Given the description of an element on the screen output the (x, y) to click on. 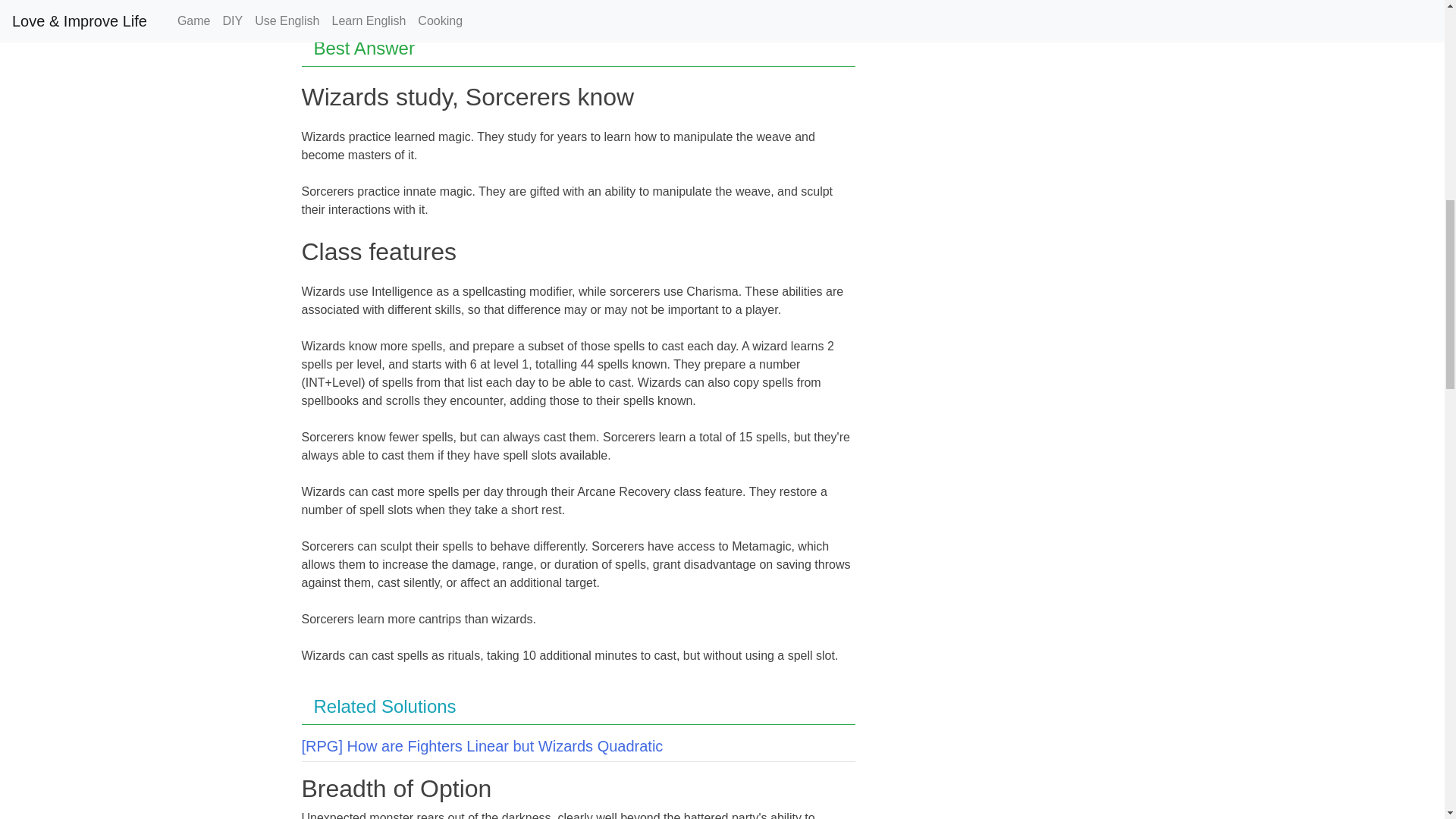
Advertisement (578, 12)
